Given the description of an element on the screen output the (x, y) to click on. 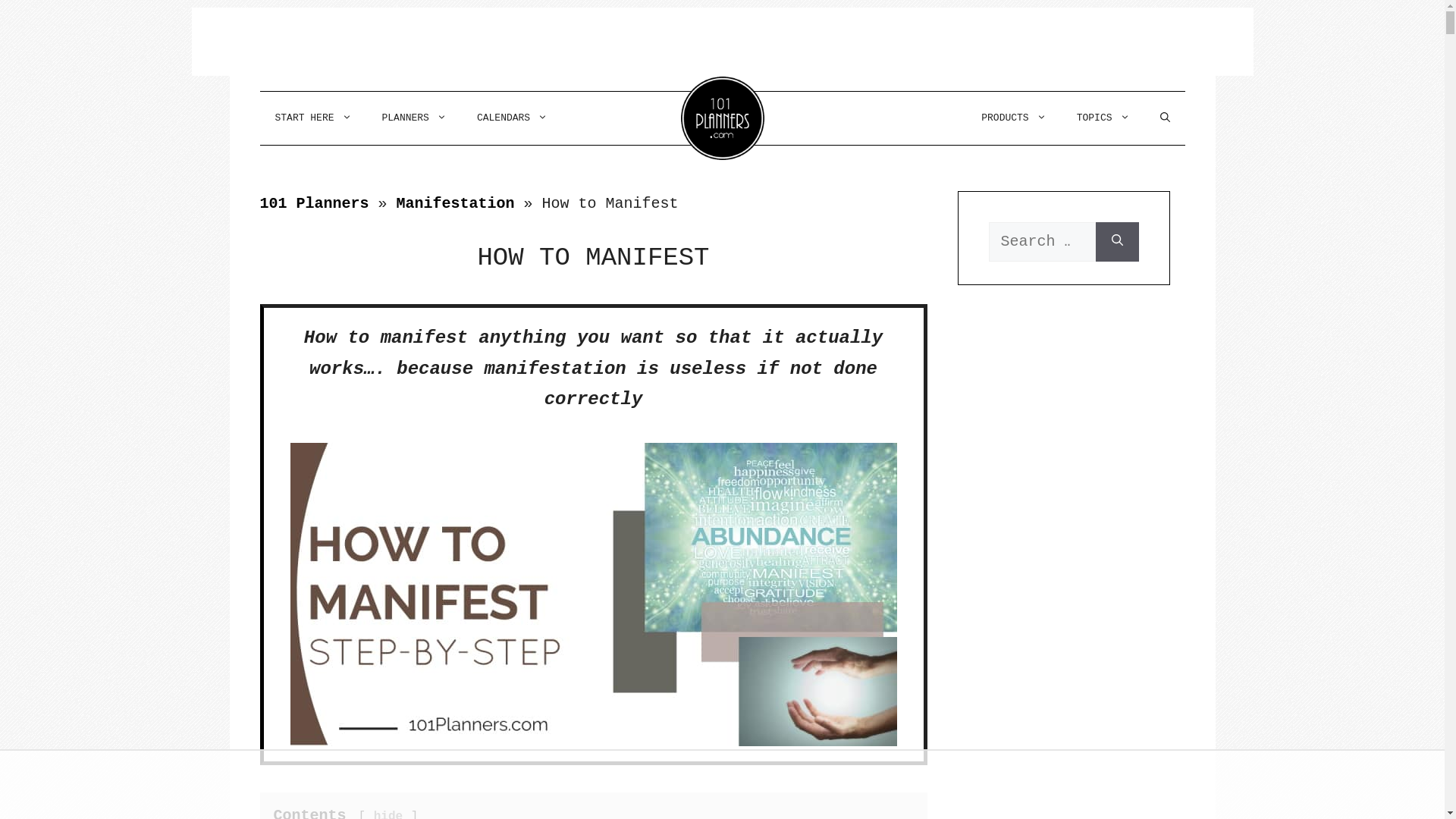
101 Planners Element type: hover (722, 118)
TOPICS Element type: text (1103, 118)
Manifestation Element type: text (455, 203)
CALENDARS Element type: text (511, 118)
PLANNERS Element type: text (414, 118)
Search for: Element type: hover (1041, 241)
PRODUCTS Element type: text (1013, 118)
START HERE Element type: text (312, 118)
101 Planners Element type: text (313, 203)
101 Planners Element type: hover (722, 117)
